Given the description of an element on the screen output the (x, y) to click on. 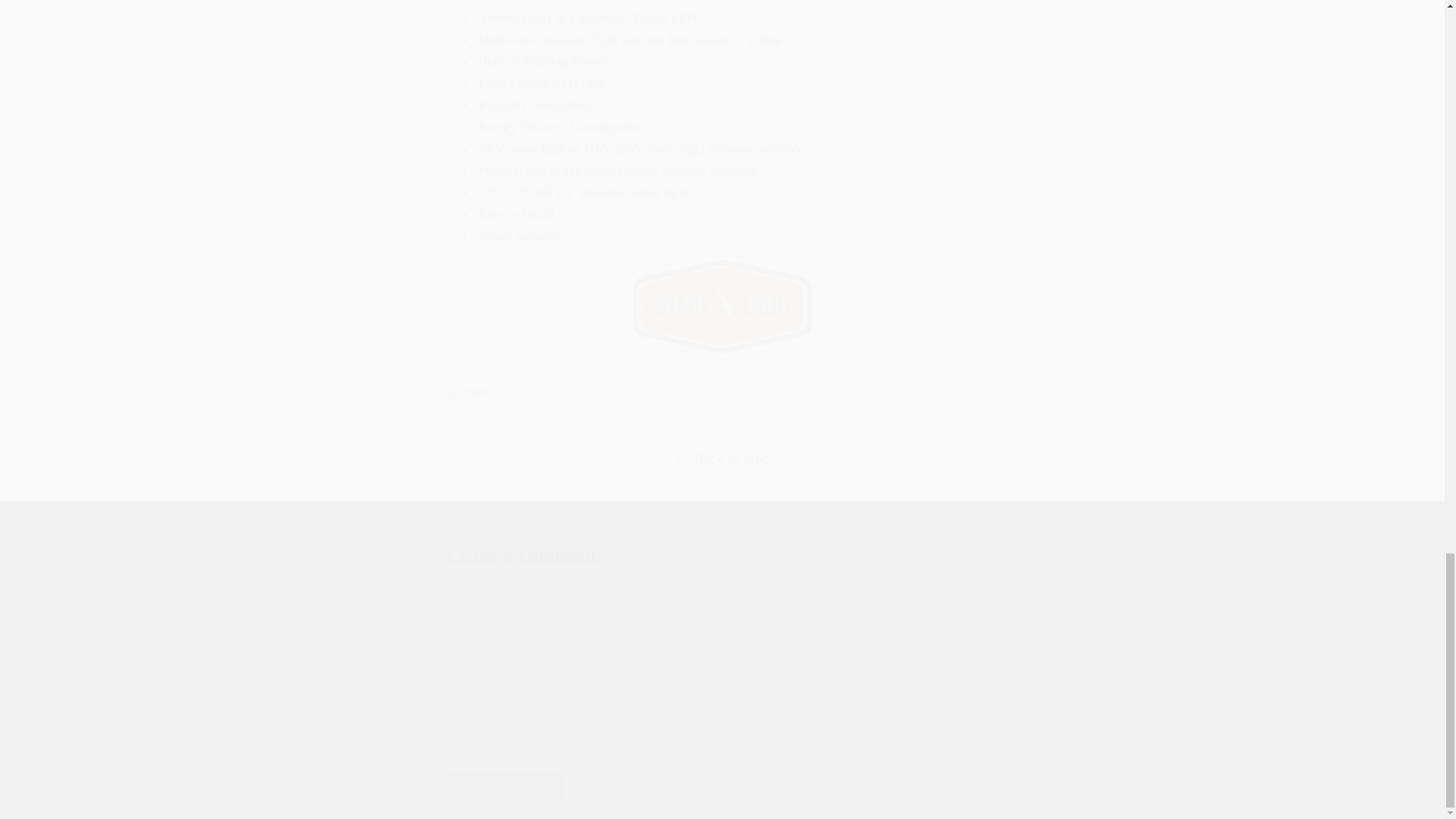
Share (721, 391)
Post comment (506, 788)
